Given the description of an element on the screen output the (x, y) to click on. 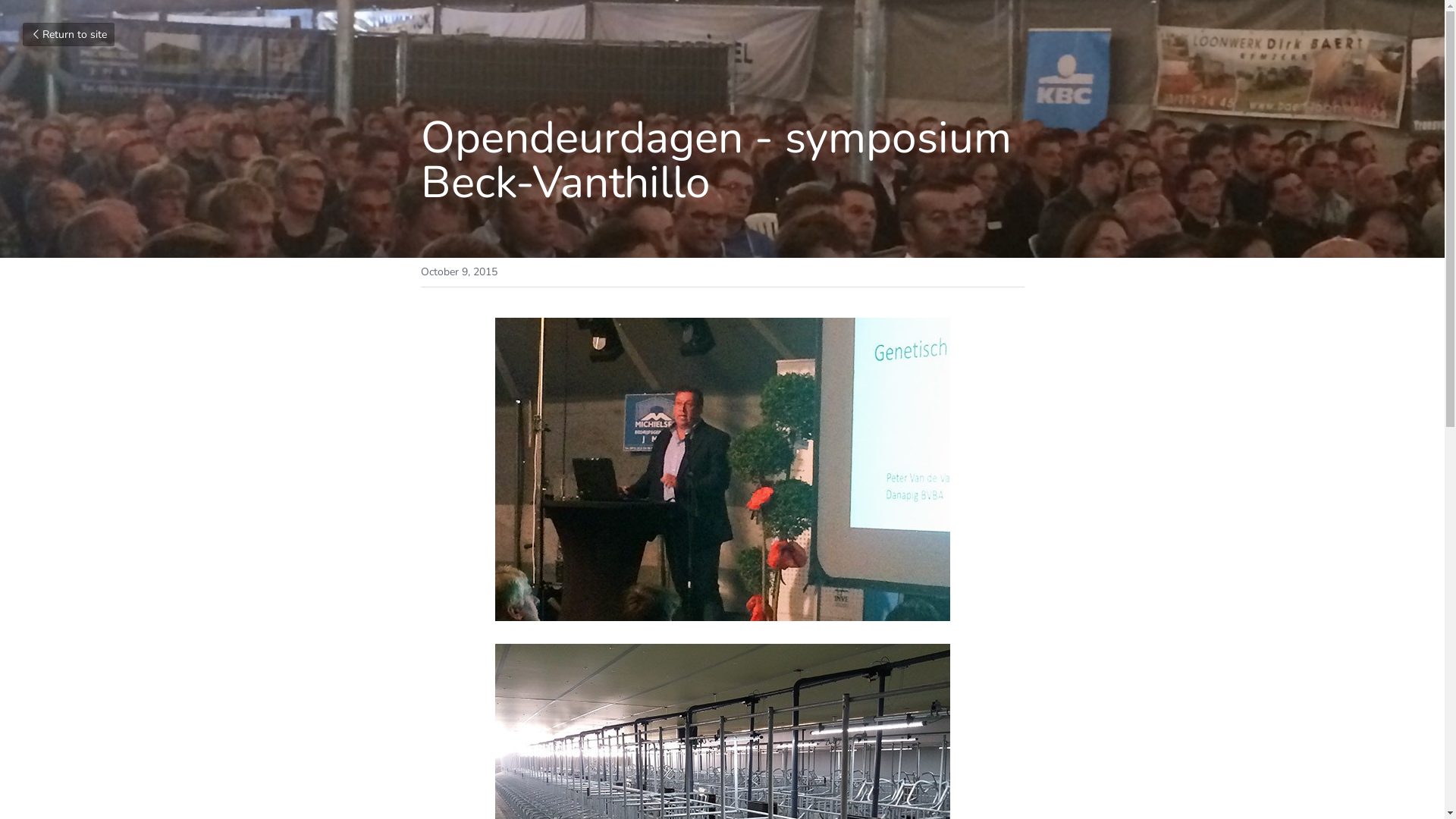
Return to site Element type: text (68, 34)
